Given the description of an element on the screen output the (x, y) to click on. 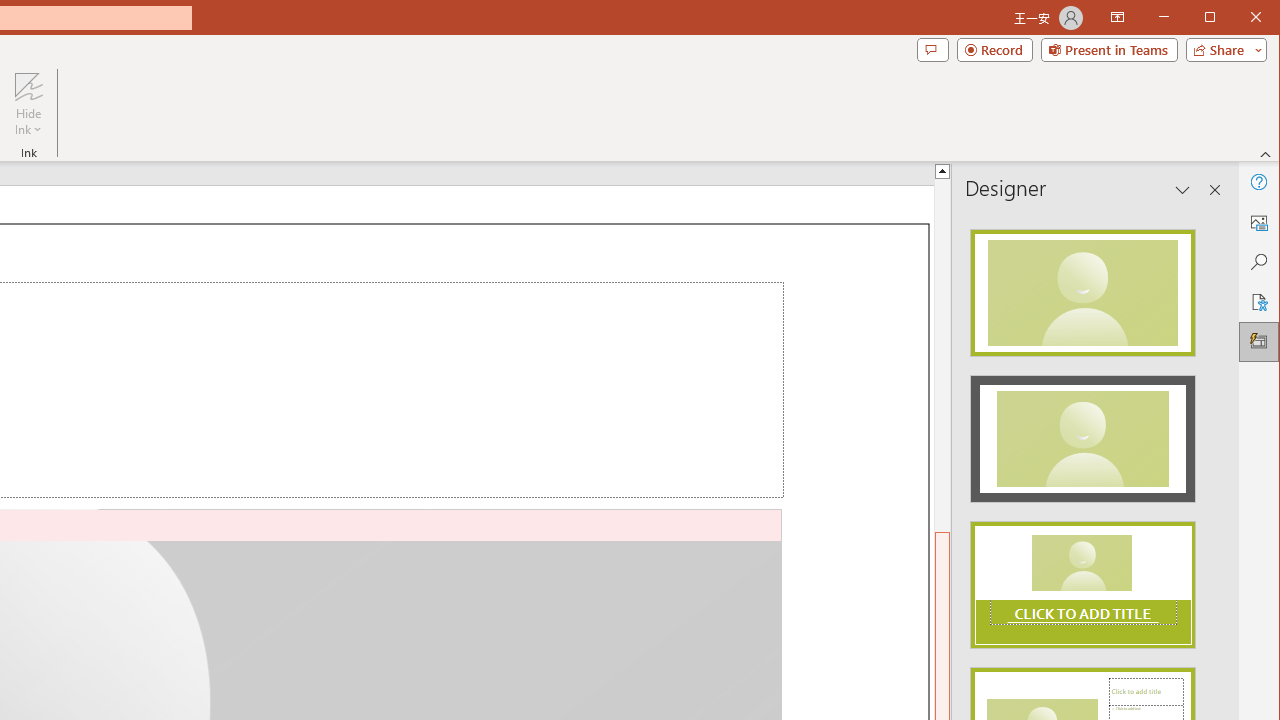
Recommended Design: Design Idea (1082, 286)
